Given the description of an element on the screen output the (x, y) to click on. 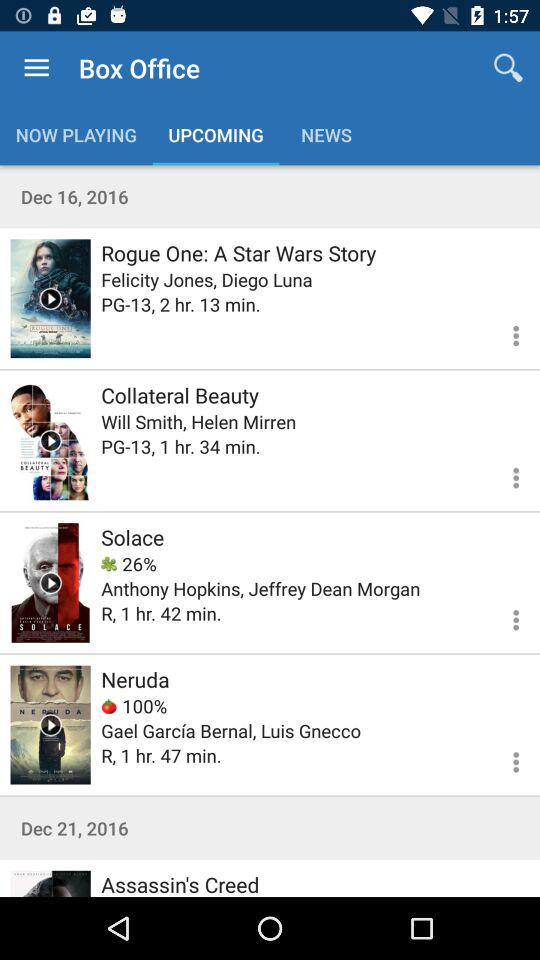
open movie (50, 582)
